Given the description of an element on the screen output the (x, y) to click on. 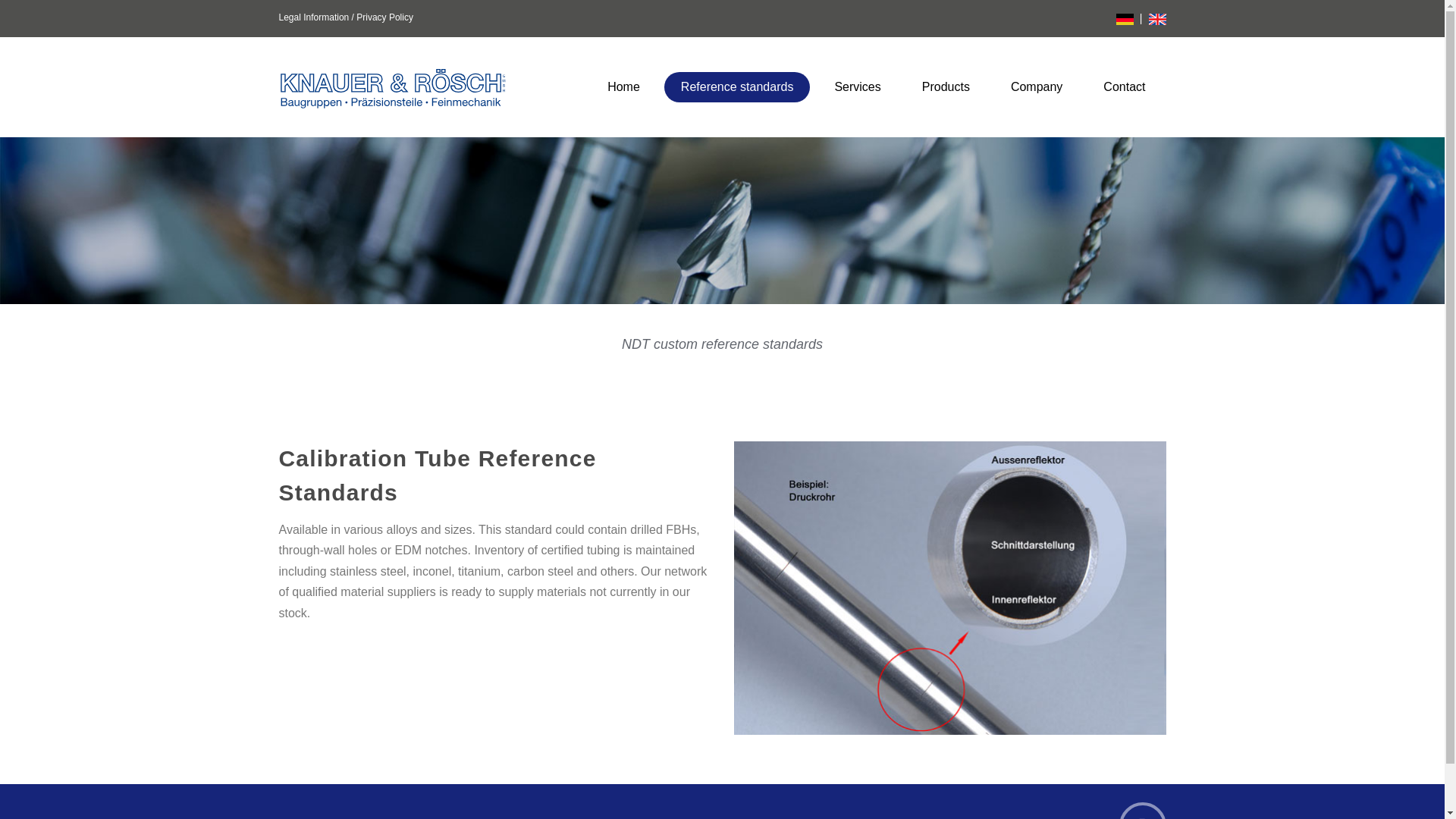
Home (623, 87)
Services (856, 87)
Leistungen (736, 87)
Company (1036, 87)
Products (946, 87)
Home (623, 87)
Reference standards (736, 87)
Services (856, 87)
Contact (1123, 87)
